Given the description of an element on the screen output the (x, y) to click on. 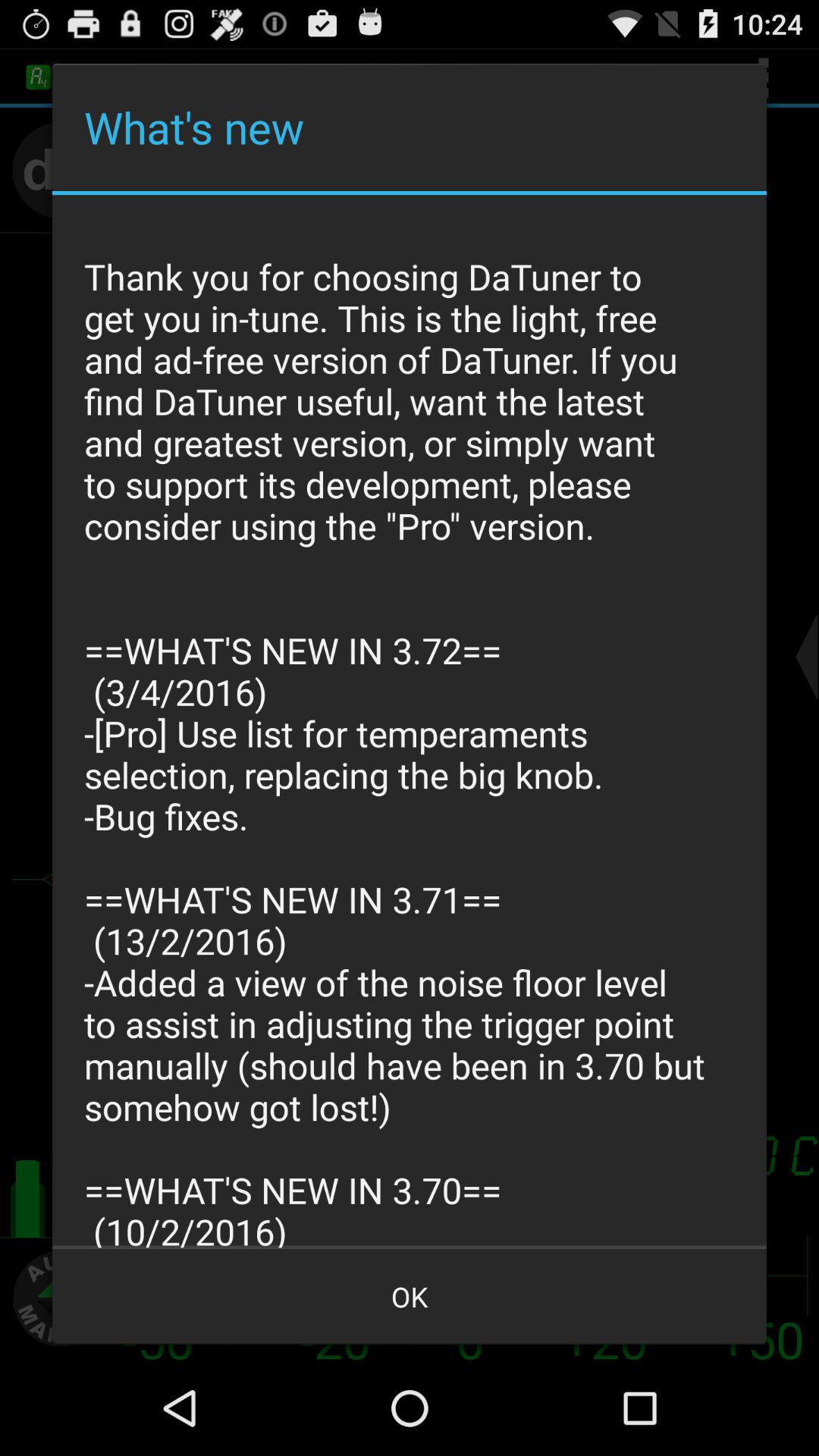
flip until the ok button (409, 1296)
